Given the description of an element on the screen output the (x, y) to click on. 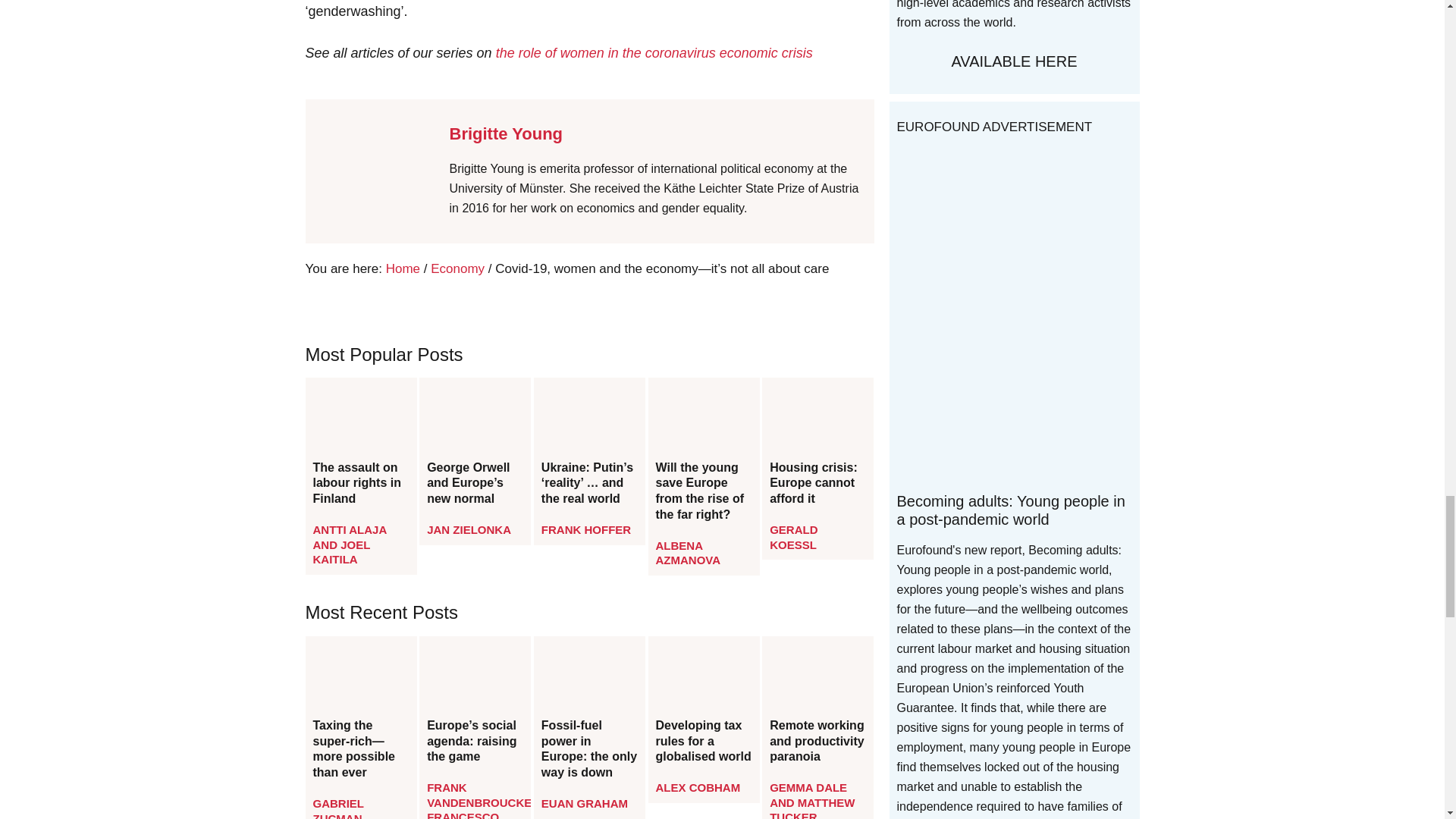
Frank Hoffer (585, 529)
Gerald Koessl (793, 537)
Gabriel Zucman (337, 807)
The assault on labour rights in Finland (360, 483)
the role of women in the coronavirus economic crisis (654, 52)
Gemma Dale and Matthew Tucker (812, 800)
Alex Cobham (698, 787)
Brigitte Young (505, 133)
Economy (457, 268)
ANTTI ALAJA AND JOEL KAITILA (349, 544)
